Given the description of an element on the screen output the (x, y) to click on. 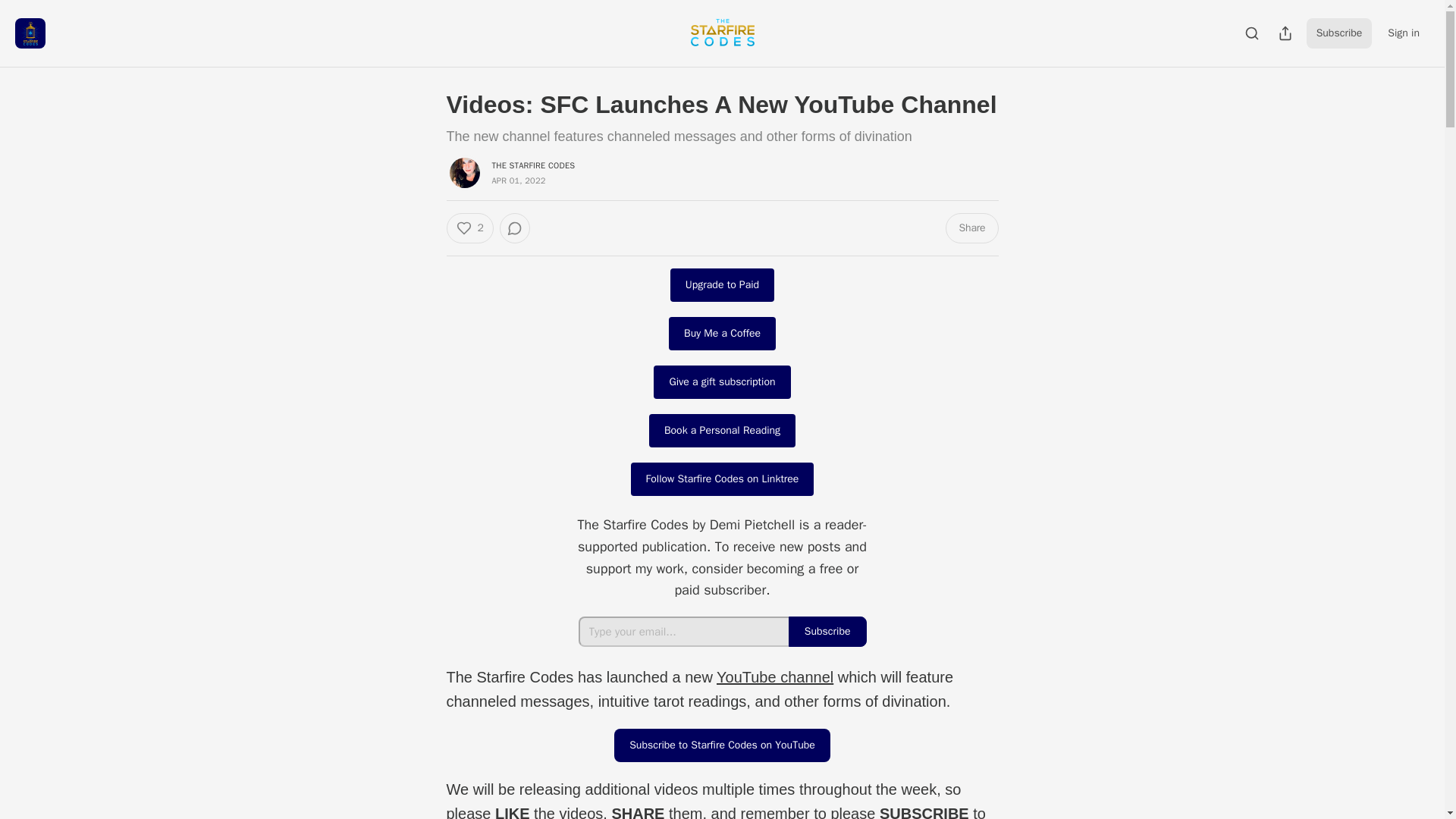
THE STARFIRE CODES (533, 164)
Upgrade to Paid (721, 285)
Subscribe (1339, 33)
Give a gift subscription (721, 381)
2 (469, 227)
Book a Personal Reading (721, 430)
YouTube channel (774, 677)
Sign in (1403, 33)
Subscribe (827, 631)
Buy Me a Coffee (722, 333)
